Given the description of an element on the screen output the (x, y) to click on. 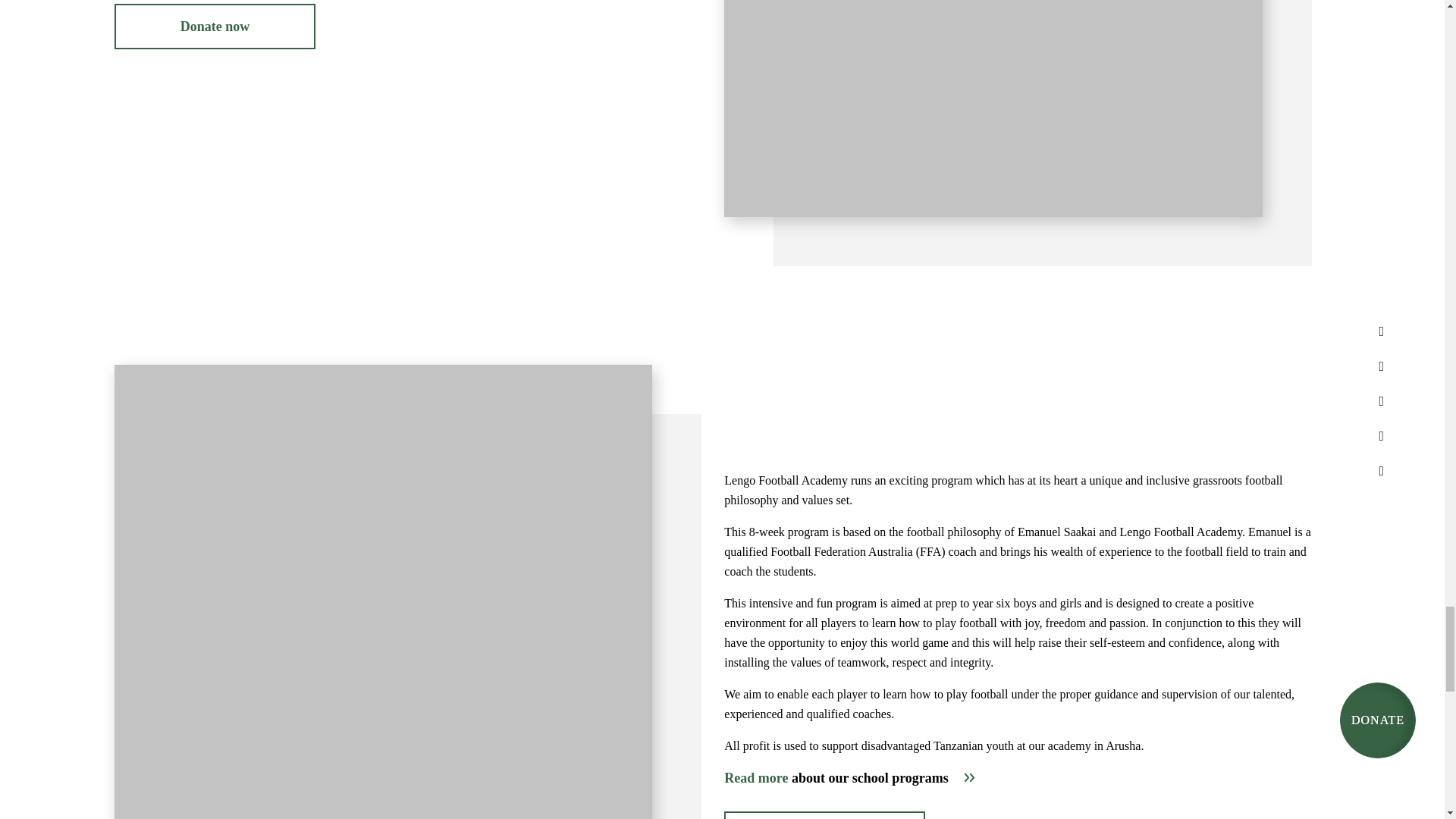
Donate now (215, 26)
Read more about our school programs (849, 777)
Donate now (823, 815)
